Given the description of an element on the screen output the (x, y) to click on. 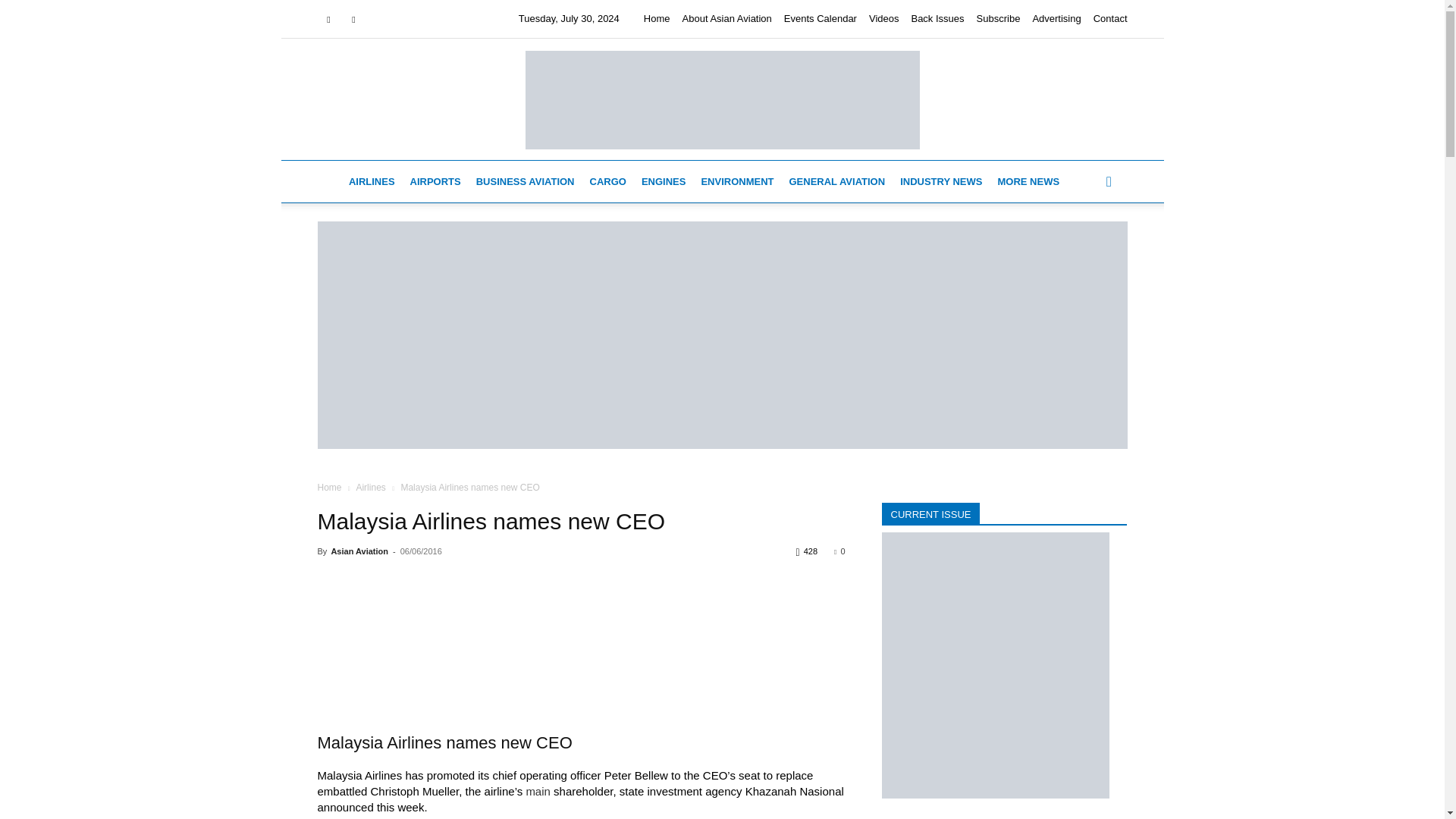
About Asian Aviation (726, 18)
Home (656, 18)
Subscribe (998, 18)
Advertising (1056, 18)
Videos (884, 18)
Contact (1109, 18)
Events Calendar (820, 18)
View all posts in Airlines (370, 487)
ASIAN AVIATION (721, 99)
Back Issues (937, 18)
